Given the description of an element on the screen output the (x, y) to click on. 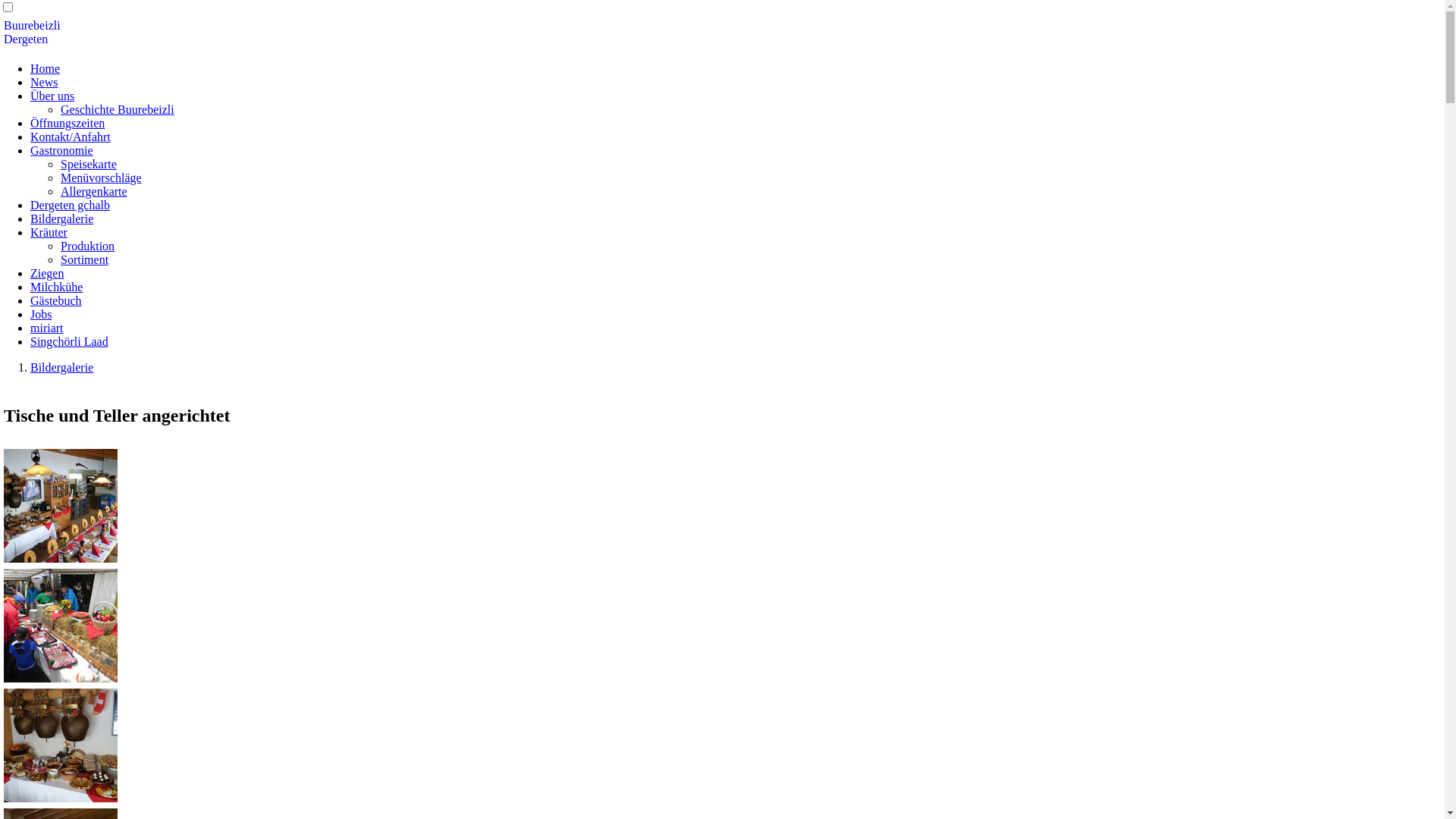
Gastronomie Element type: text (61, 150)
Sortiment Element type: text (84, 259)
News Element type: text (43, 81)
Geschichte Buurebeizli Element type: text (117, 109)
Allergenkarte Element type: text (93, 191)
Ziegen Element type: text (46, 272)
Home Element type: text (44, 68)
Bildergalerie Element type: text (61, 218)
Jobs Element type: text (40, 313)
Kontakt/Anfahrt Element type: text (70, 136)
Speisekarte Element type: text (88, 163)
miriart Element type: text (46, 327)
Buurebeizli
Dergeten Element type: text (31, 31)
Dergeten gchalb Element type: text (69, 204)
Produktion Element type: text (87, 245)
Bildergalerie Element type: text (61, 366)
